Given the description of an element on the screen output the (x, y) to click on. 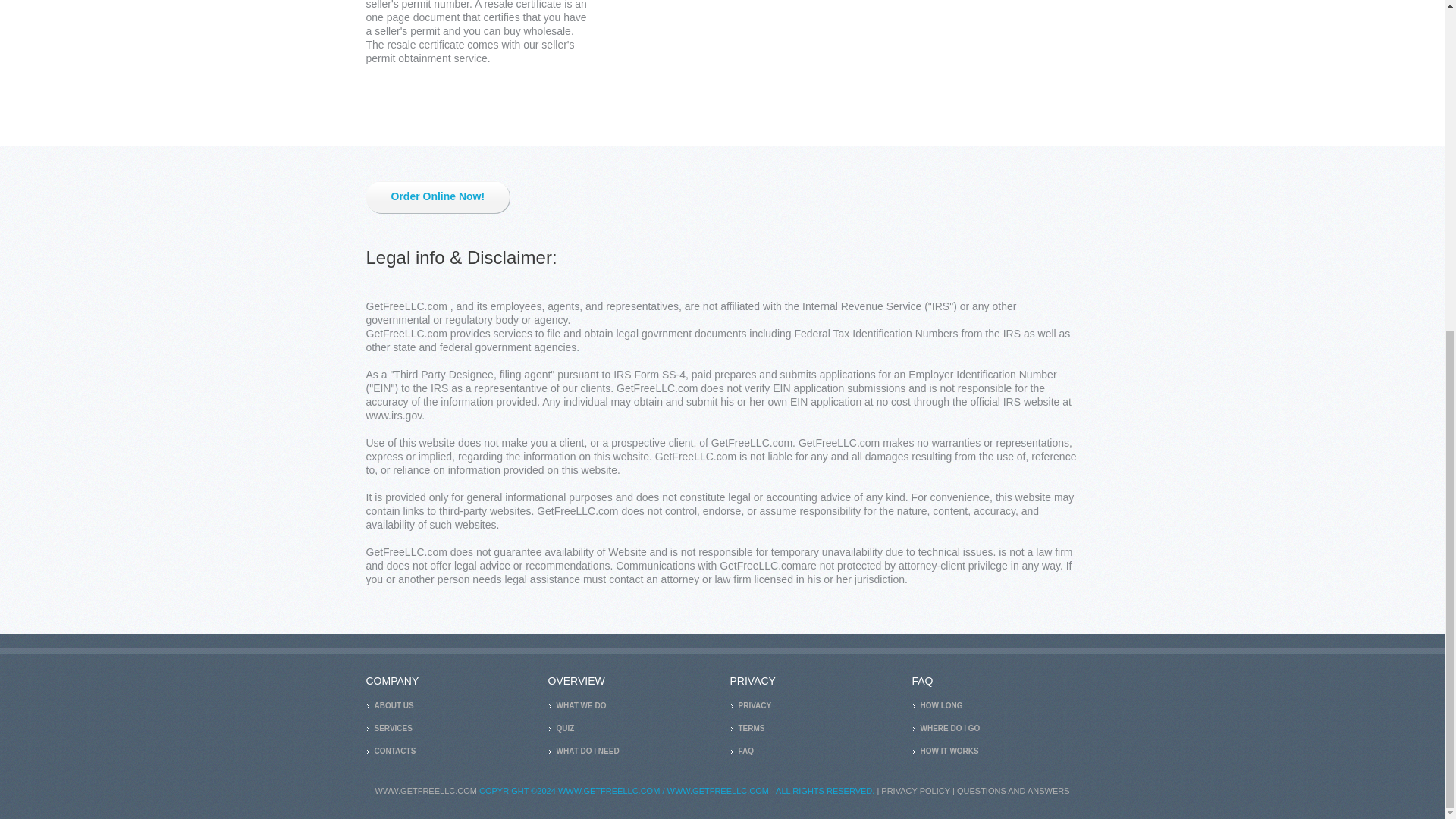
QUIZ (565, 727)
Order Online Now! (437, 196)
WHAT WE DO (581, 705)
SERVICES (393, 727)
ABOUT US (393, 705)
CONTACTS (395, 750)
